Given the description of an element on the screen output the (x, y) to click on. 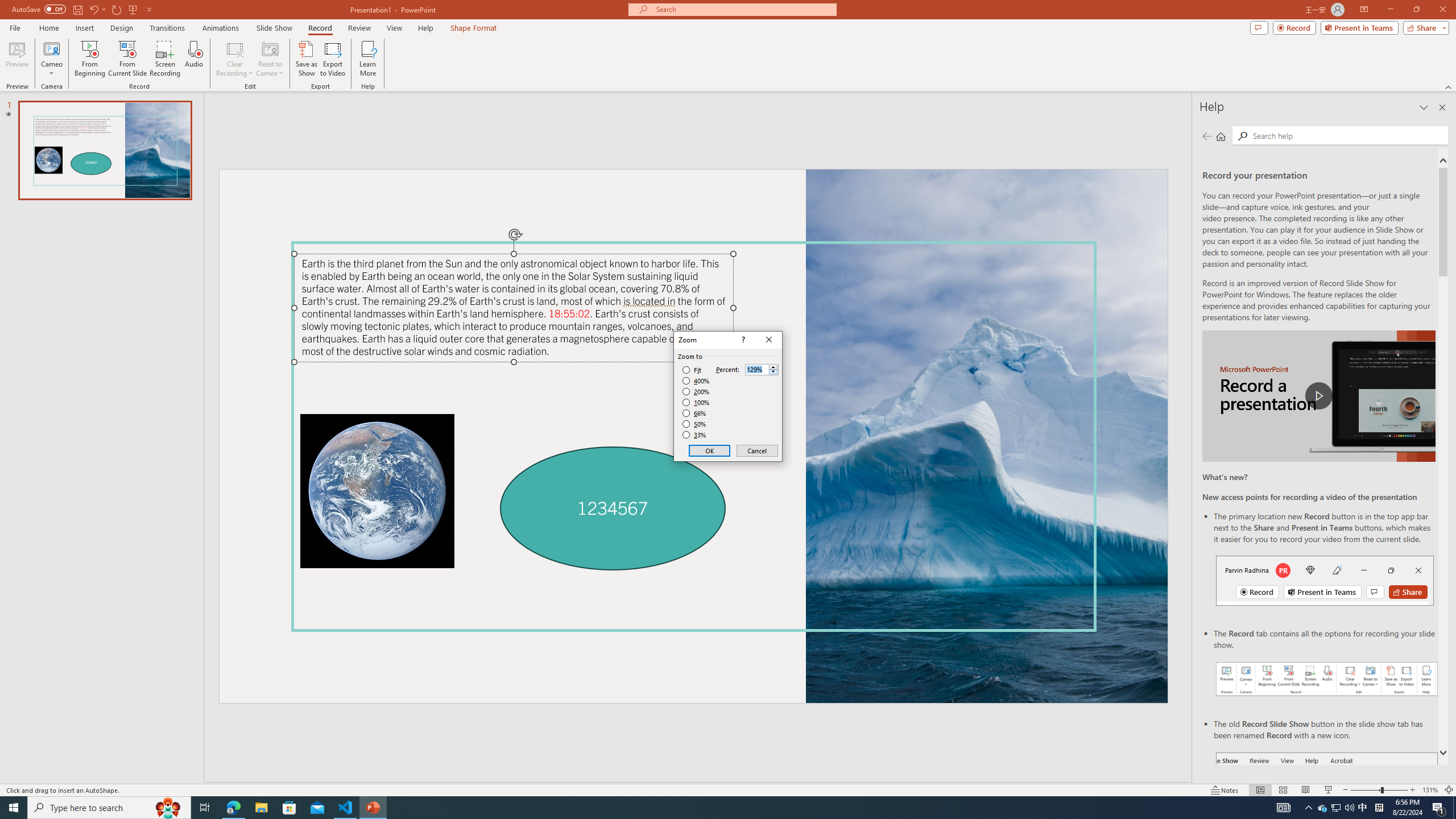
100% (696, 402)
200% (696, 391)
